Given the description of an element on the screen output the (x, y) to click on. 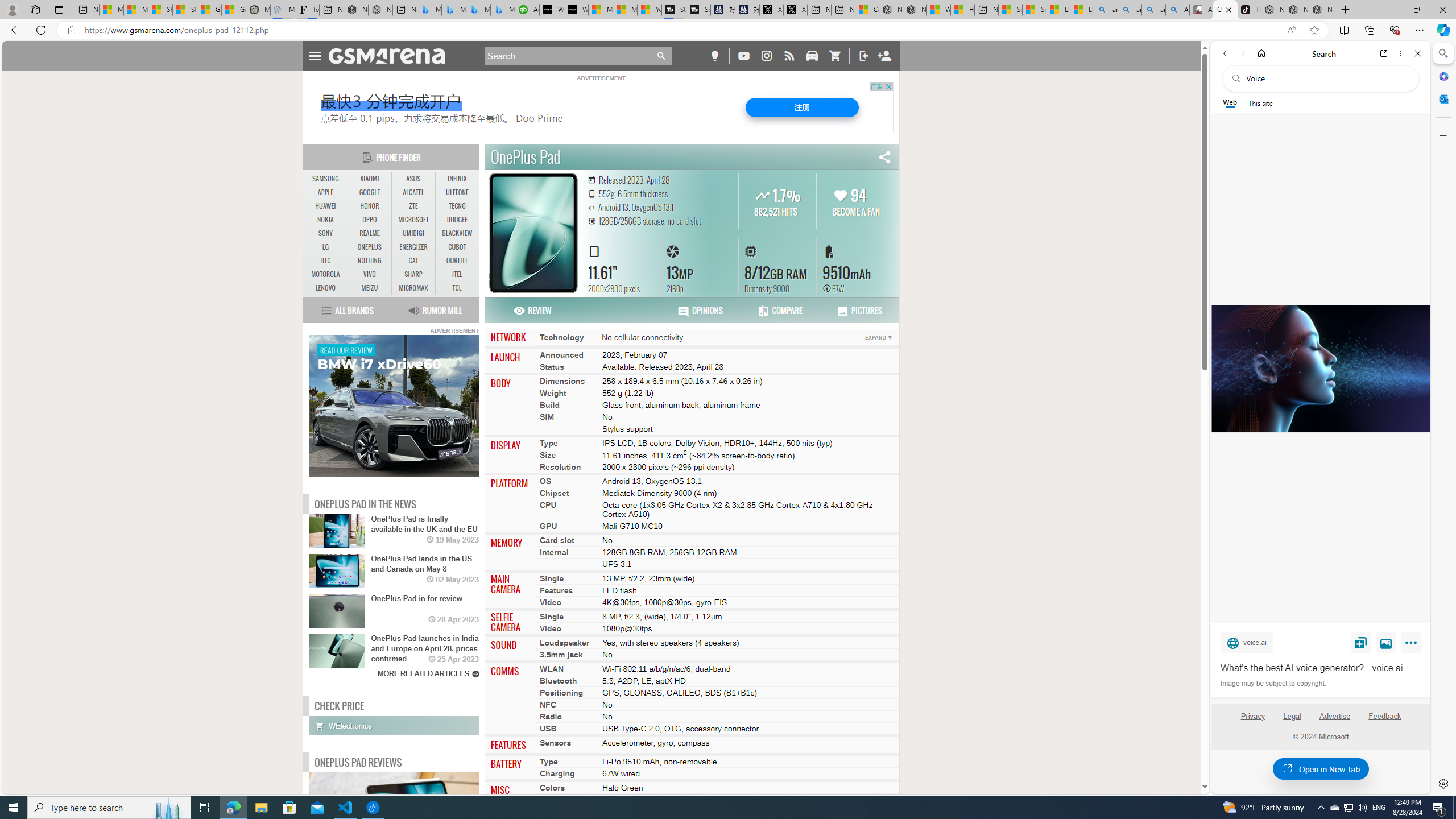
TECNO (457, 206)
TECNO (457, 205)
Legal (1291, 715)
What's the best AI voice generator? - voice.ai (575, 9)
SHARP (413, 273)
MEIZU (369, 287)
MOTOROLA (325, 273)
Type (548, 761)
Accounting Software for Accountants, CPAs and Bookkeepers (526, 9)
View image (1385, 642)
Bluetooth (558, 681)
